Given the description of an element on the screen output the (x, y) to click on. 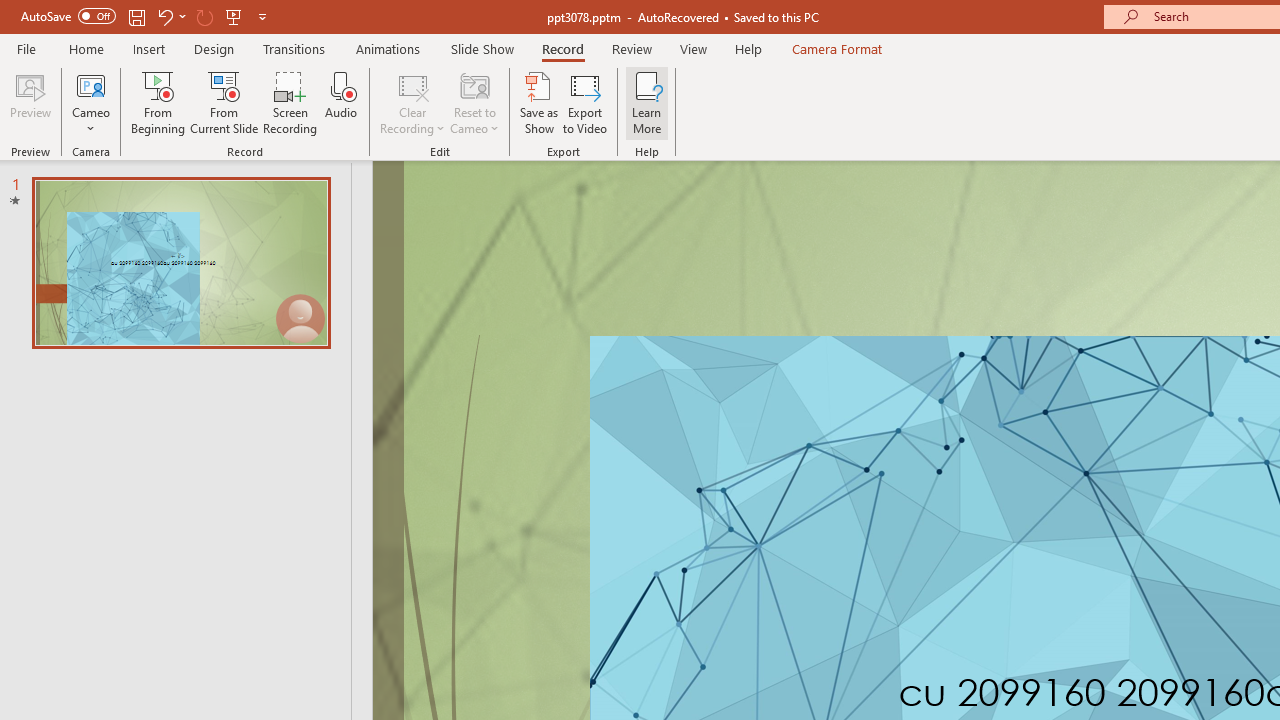
Learn More (646, 102)
Save as Show (539, 102)
From Current Slide... (224, 102)
